Given the description of an element on the screen output the (x, y) to click on. 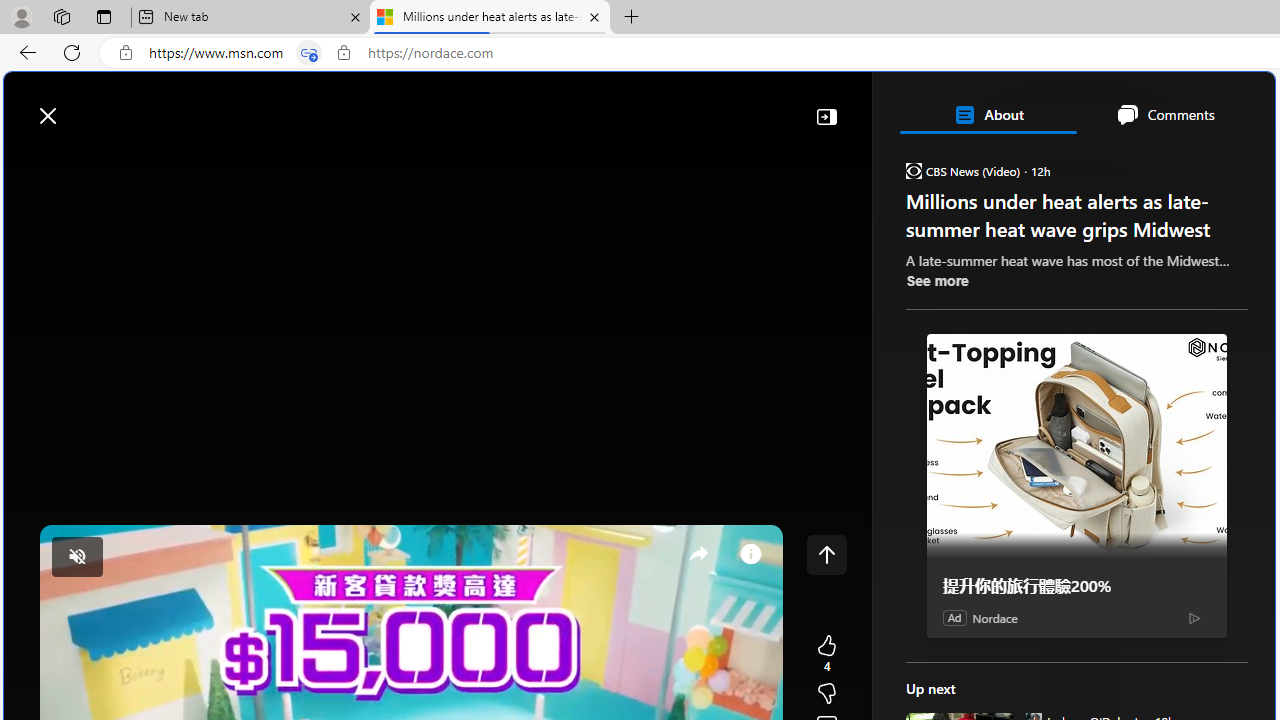
CBS News (Video) (912, 170)
Microsoft rewards (1151, 105)
Personalize (1195, 162)
About (987, 114)
